Given the description of an element on the screen output the (x, y) to click on. 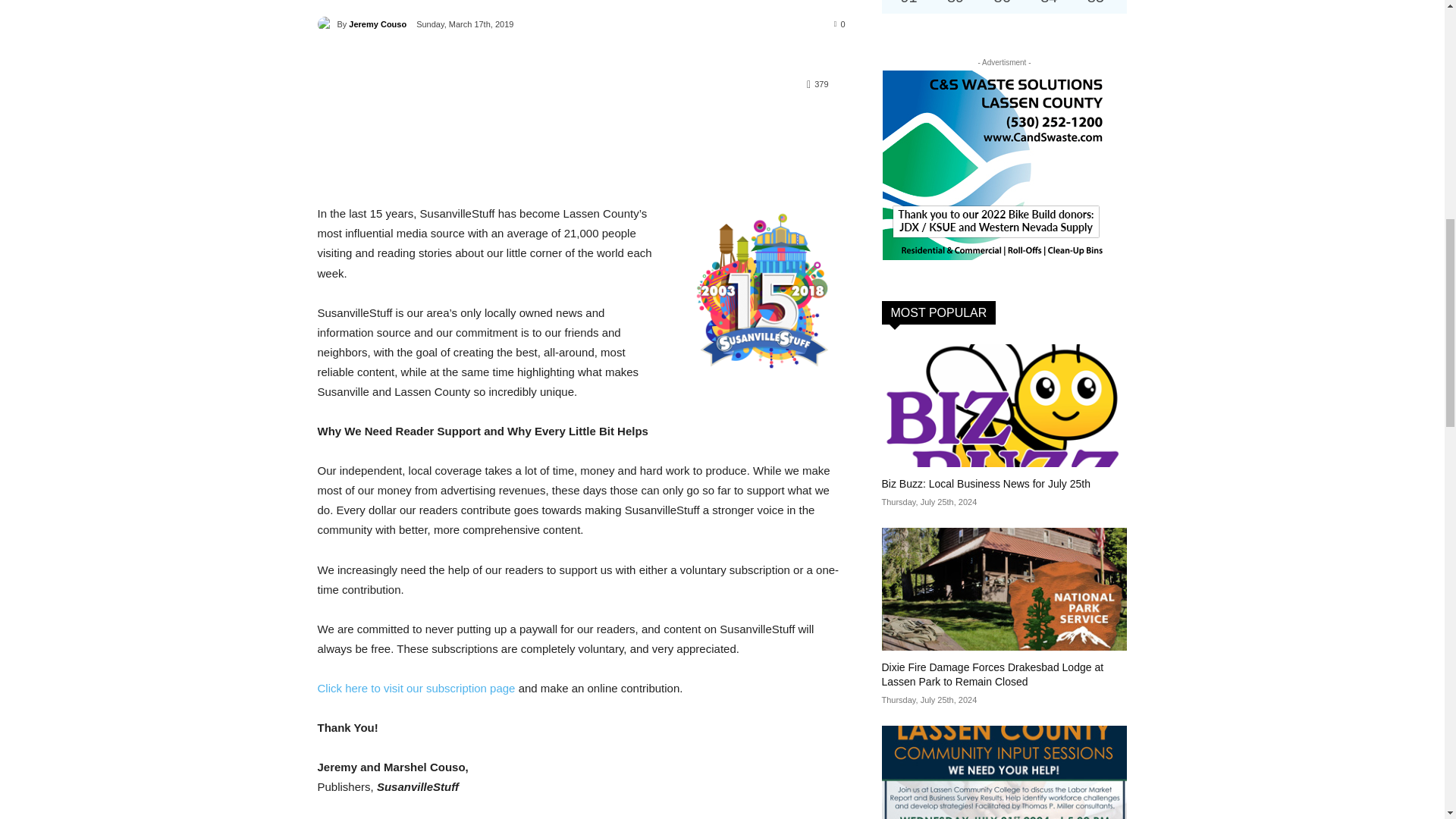
Jeremy Couso (326, 23)
